Given the description of an element on the screen output the (x, y) to click on. 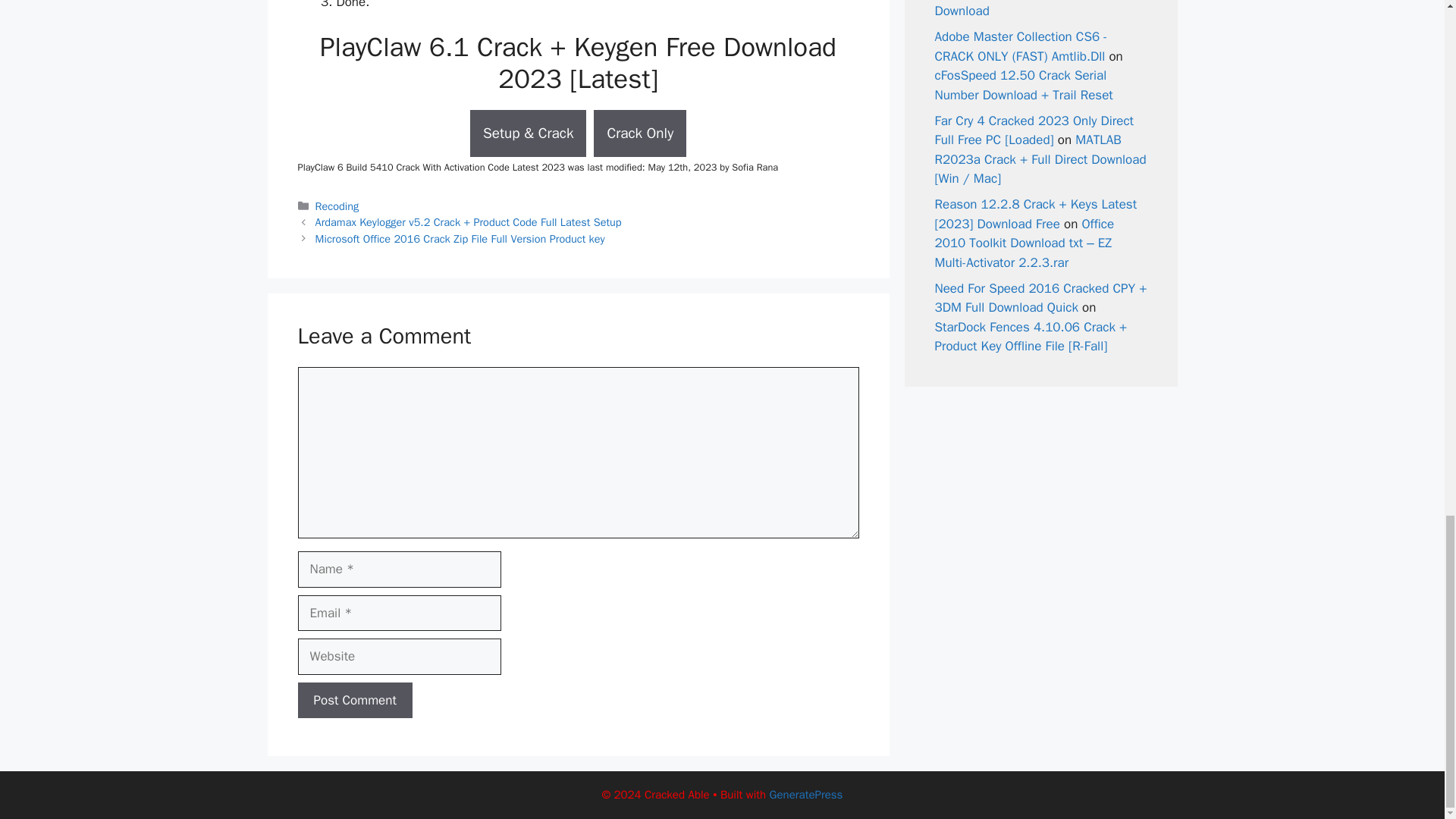
Post Comment (354, 700)
Post Comment (354, 700)
Crack Only (639, 133)
Recoding (337, 205)
